Given the description of an element on the screen output the (x, y) to click on. 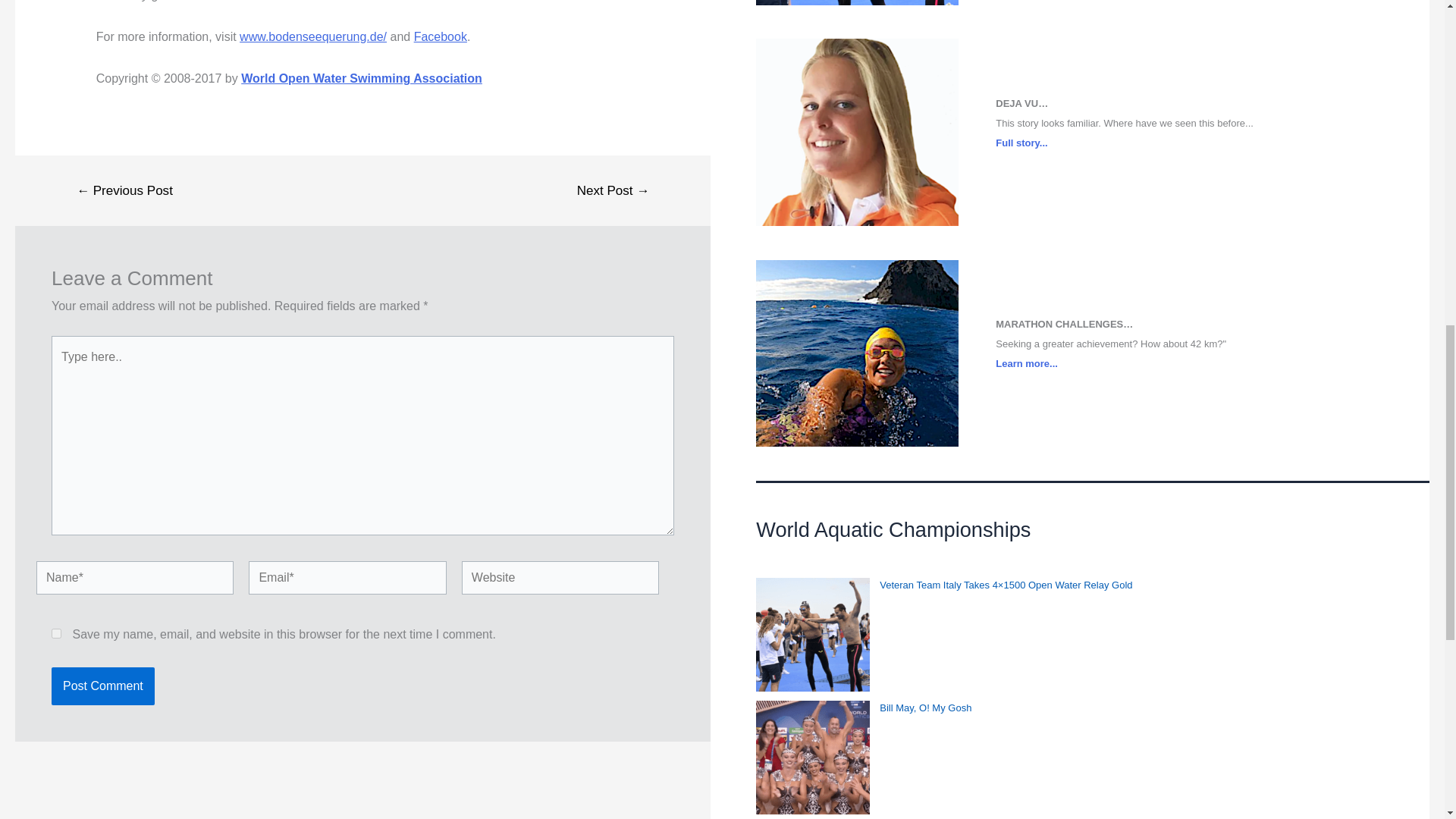
Facebook (440, 36)
Full story... (1020, 142)
Learn more... (1026, 363)
World Open Water Swimming Association (361, 78)
Bill May, O! My Gosh (925, 707)
yes (55, 633)
Post Comment (102, 686)
Post Comment (102, 686)
